Given the description of an element on the screen output the (x, y) to click on. 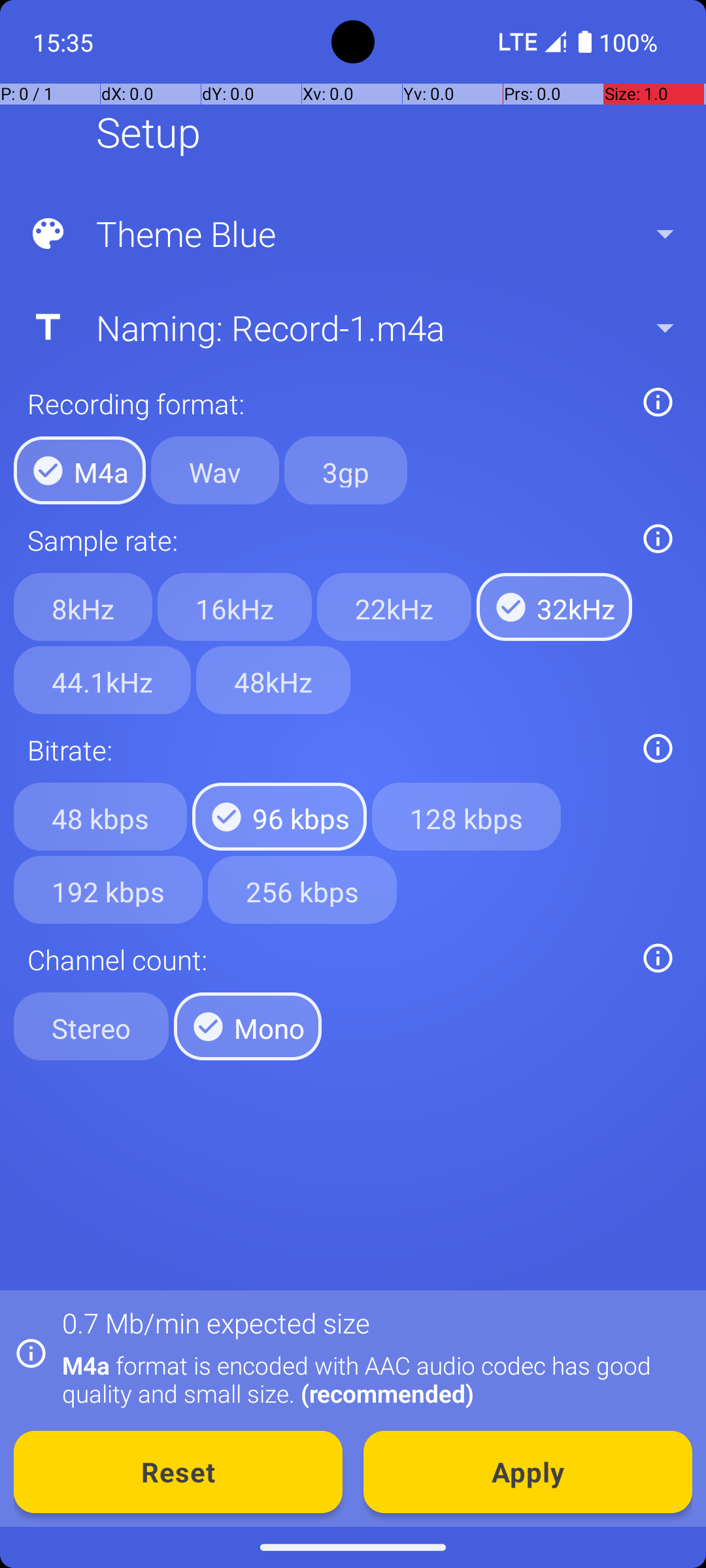
0.7 Mb/min expected size Element type: android.widget.TextView (215, 1322)
Theme Blue Element type: android.widget.TextView (352, 233)
